Given the description of an element on the screen output the (x, y) to click on. 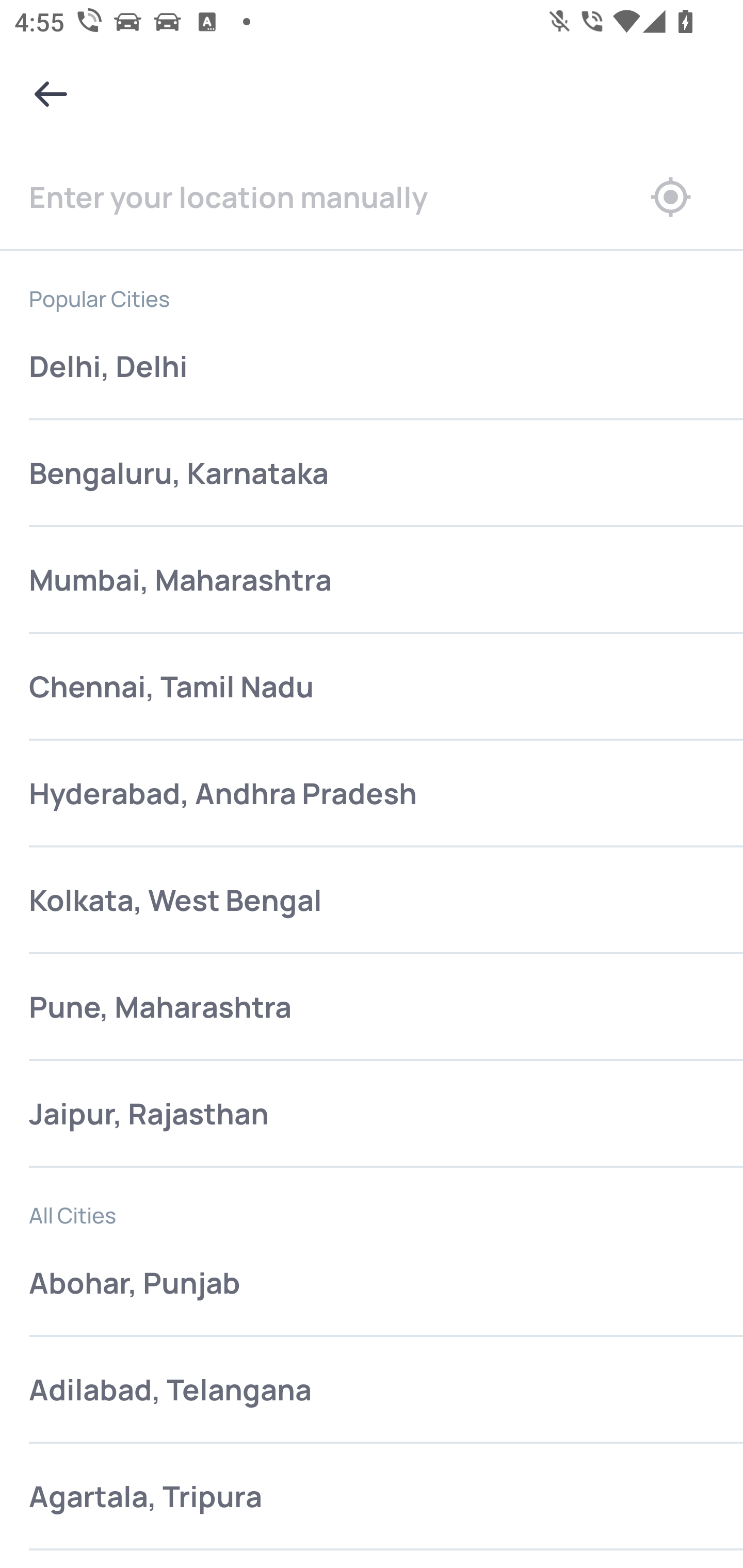
Enter your location manually (313, 196)
Delhi, Delhi (371, 366)
Bengaluru, Karnataka (371, 473)
Mumbai, Maharashtra (371, 579)
Chennai, Tamil Nadu (371, 686)
Hyderabad, Andhra Pradesh (371, 793)
Kolkata, West Bengal (371, 900)
Pune, Maharashtra (371, 1007)
Jaipur, Rajasthan (371, 1114)
Abohar, Punjab (371, 1283)
Adilabad, Telangana (371, 1390)
Agartala, Tripura (371, 1497)
